Given the description of an element on the screen output the (x, y) to click on. 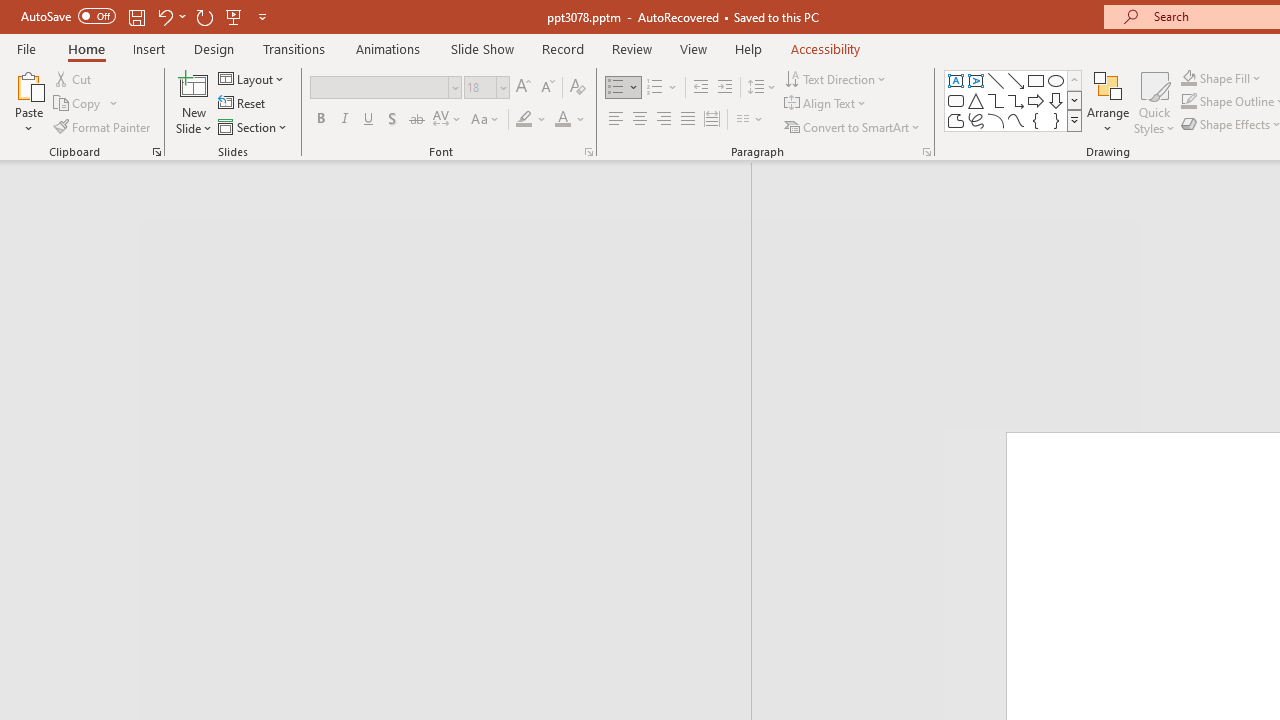
Text Highlight Color Yellow (524, 119)
Bold (320, 119)
Paragraph... (926, 151)
Connector: Elbow Arrow (1016, 100)
Shape Fill Dark Green, Accent 2 (1188, 78)
Clear Formatting (577, 87)
Arrange (1108, 102)
Text Direction (836, 78)
Decrease Font Size (547, 87)
Strikethrough (416, 119)
